Given the description of an element on the screen output the (x, y) to click on. 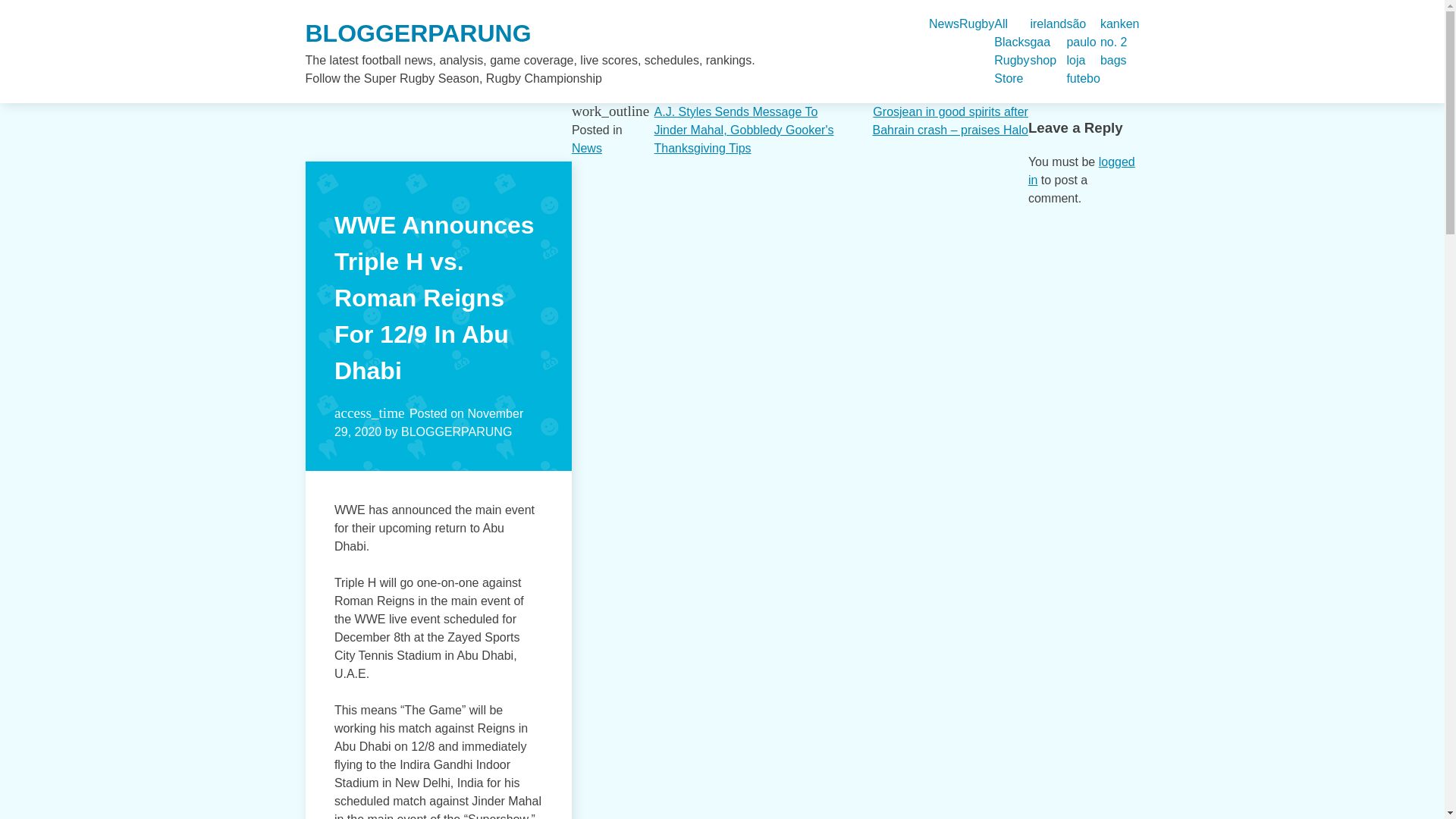
Rugby (976, 24)
BLOGGERPARUNG (417, 32)
logged in (1081, 170)
News (587, 147)
BLOGGERPARUNG (456, 431)
November 29, 2020 (428, 422)
News (943, 24)
